Given the description of an element on the screen output the (x, y) to click on. 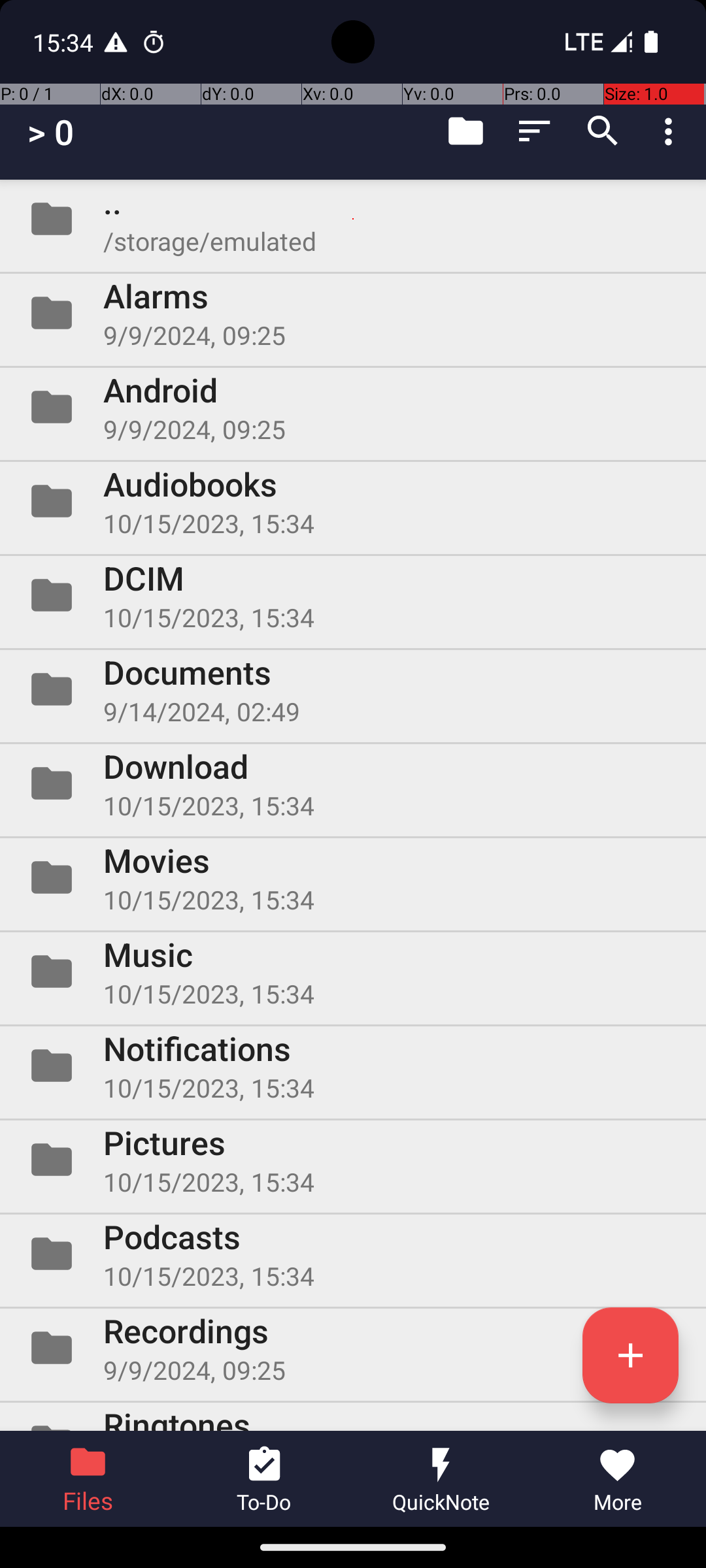
> 0 Element type: android.widget.TextView (50, 131)
Folder .. /storage/emulated/0 Element type: android.widget.LinearLayout (353, 218)
Folder Alarms 10/15/2023, 15:34 Element type: android.widget.LinearLayout (353, 312)
Folder Android 10/15/2023, 15:34 Element type: android.widget.LinearLayout (353, 406)
Folder Audiobooks 10/15/2023, 15:34 Element type: android.widget.LinearLayout (353, 500)
Folder DCIM  Element type: android.widget.LinearLayout (353, 594)
Folder Documents  Element type: android.widget.LinearLayout (353, 689)
Folder Download  Element type: android.widget.LinearLayout (353, 783)
Folder Movies  Element type: android.widget.LinearLayout (353, 877)
Folder Music  Element type: android.widget.LinearLayout (353, 971)
Folder Notifications  Element type: android.widget.LinearLayout (353, 1065)
Folder Pictures  Element type: android.widget.LinearLayout (353, 1159)
Folder Podcasts  Element type: android.widget.LinearLayout (353, 1253)
Folder Recordings  Element type: android.widget.LinearLayout (353, 1347)
Folder Ringtones  Element type: android.widget.LinearLayout (353, 1416)
